Given the description of an element on the screen output the (x, y) to click on. 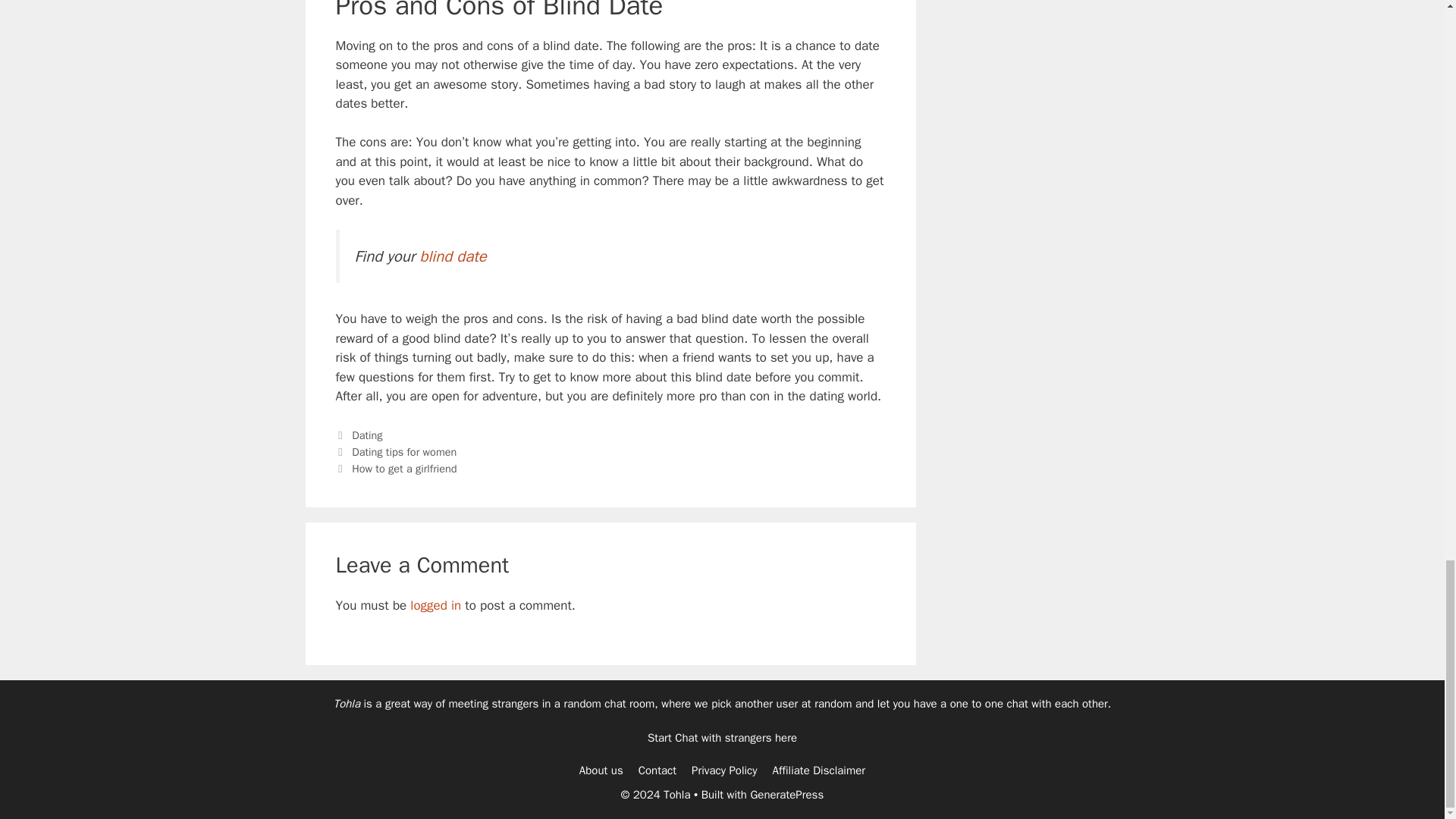
logged in (435, 605)
Dating (366, 435)
blind date (452, 256)
Dating tips for women (404, 451)
How to get a girlfriend (404, 468)
